Given the description of an element on the screen output the (x, y) to click on. 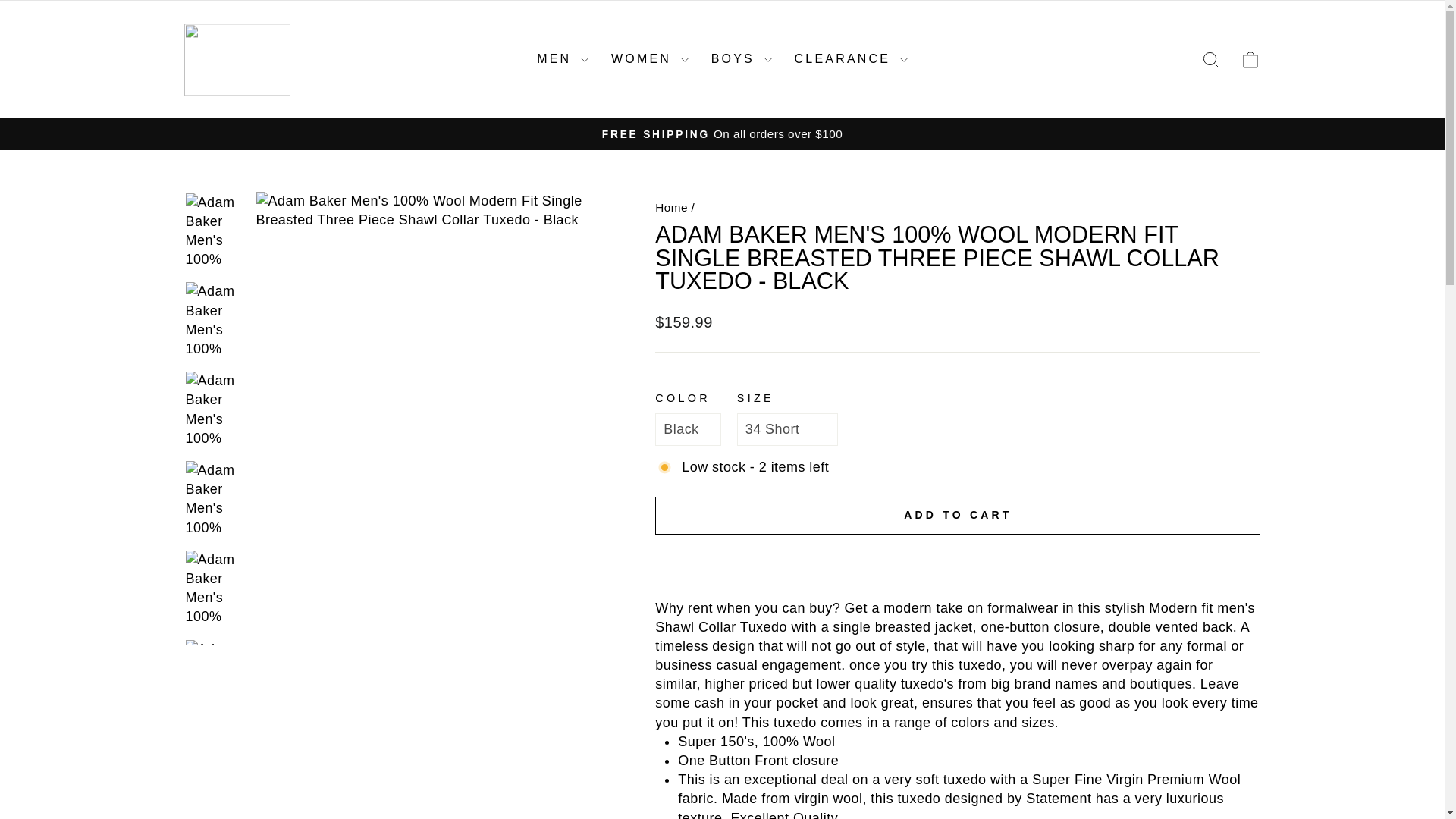
ICON-SEARCH (1210, 59)
Back to the frontpage (671, 206)
ICON-BAG-MINIMAL (1249, 59)
